Given the description of an element on the screen output the (x, y) to click on. 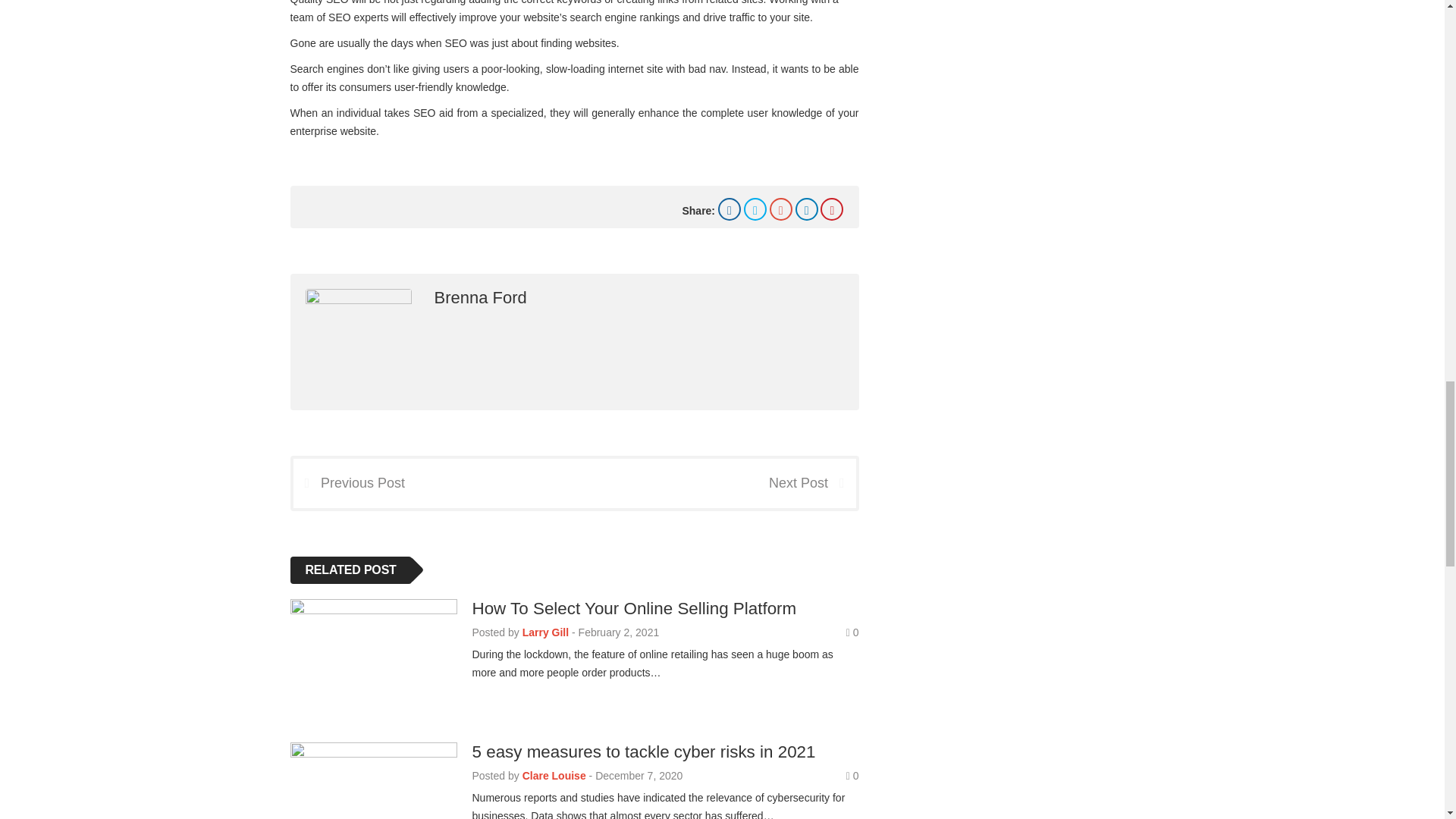
Twitter (755, 209)
Linkedin (806, 209)
Brenna Ford (479, 297)
SEO experts (358, 17)
How To Select Your Online Selling Platform (633, 608)
Facebook (729, 209)
Posts by Clare Louise (554, 775)
Larry Gill (545, 632)
Previous Post (348, 482)
Pinterest (832, 209)
